Given the description of an element on the screen output the (x, y) to click on. 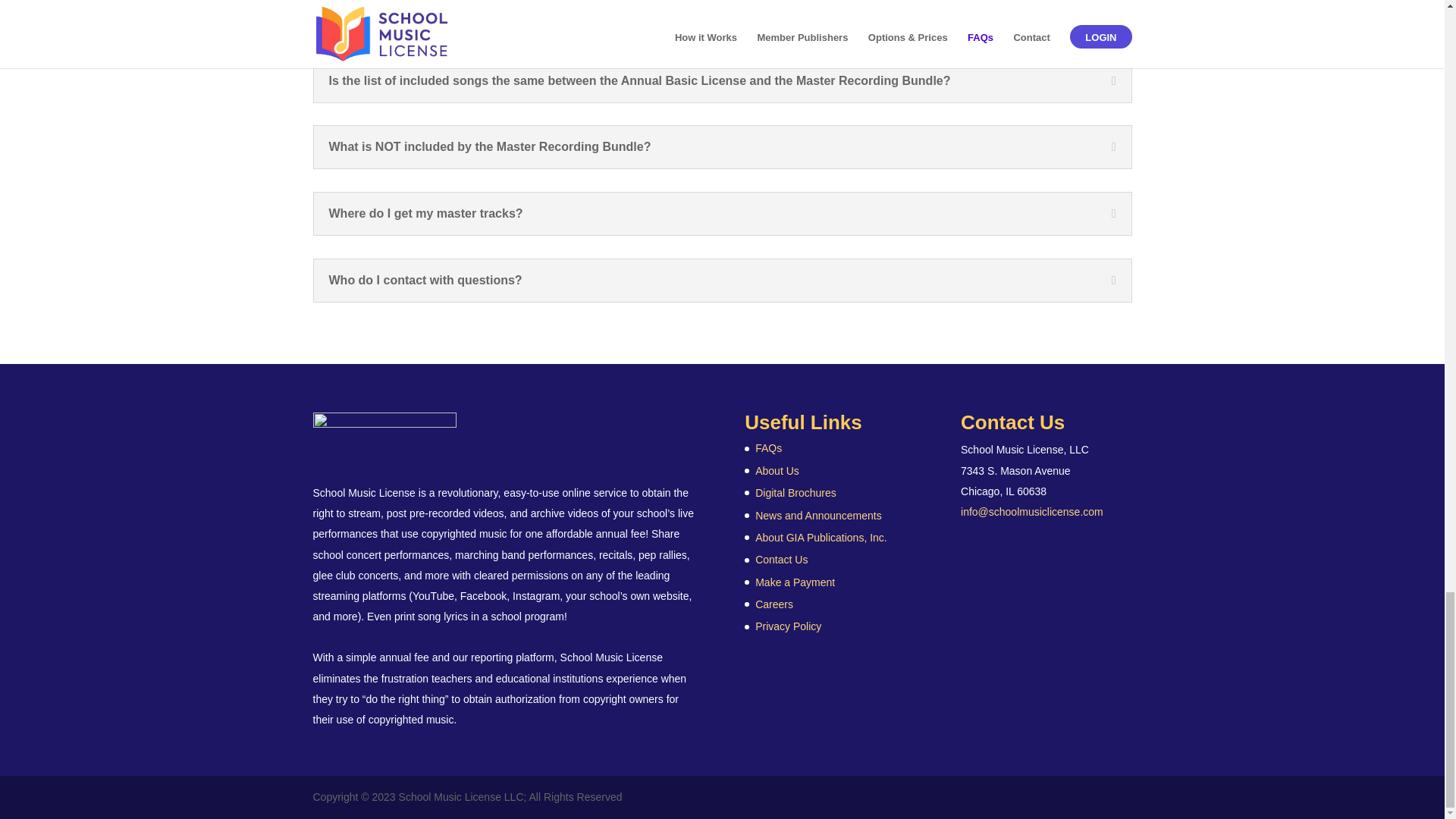
News and Announcements (818, 515)
About GIA Publications, Inc. (820, 537)
About Us (777, 470)
Privacy Policy (788, 625)
Digital Brochures (795, 492)
Contact Us (781, 559)
FAQs (768, 448)
Make a Payment (794, 582)
Careers (774, 604)
